Given the description of an element on the screen output the (x, y) to click on. 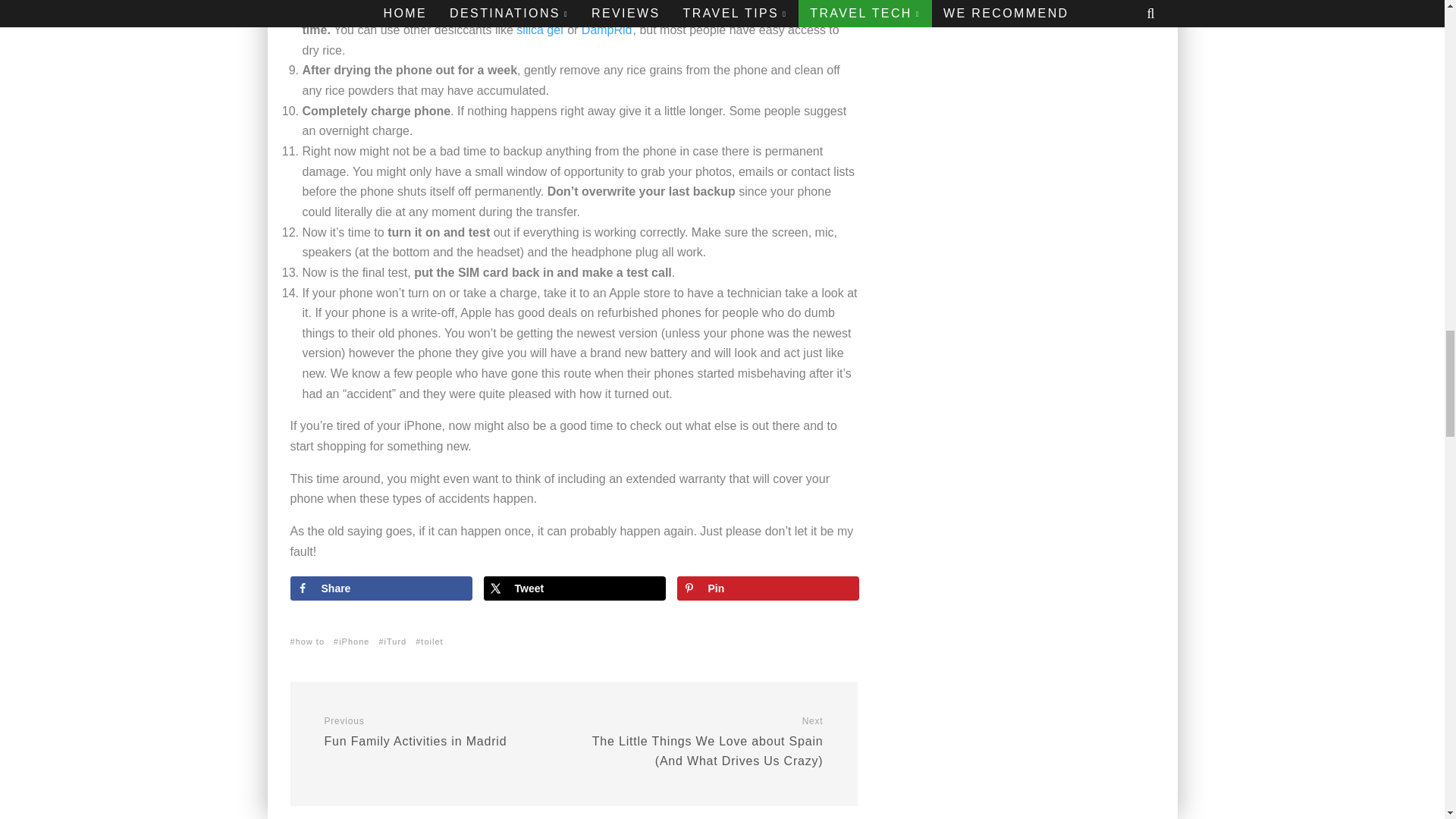
Share on X (574, 588)
Save to Pinterest (768, 588)
Share on Facebook (380, 588)
